Given the description of an element on the screen output the (x, y) to click on. 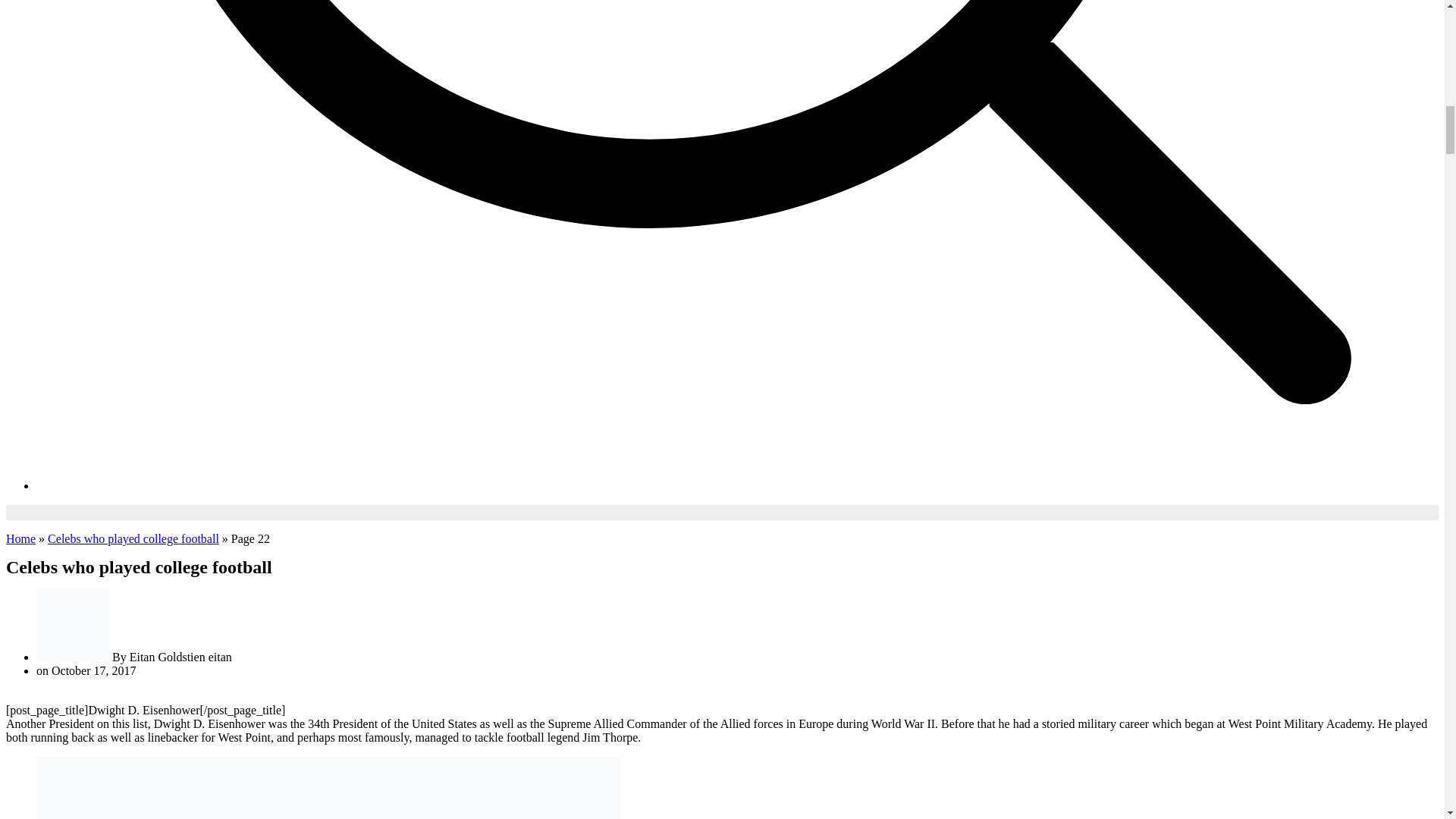
Home (19, 538)
Celebs who played college football (133, 538)
